Given the description of an element on the screen output the (x, y) to click on. 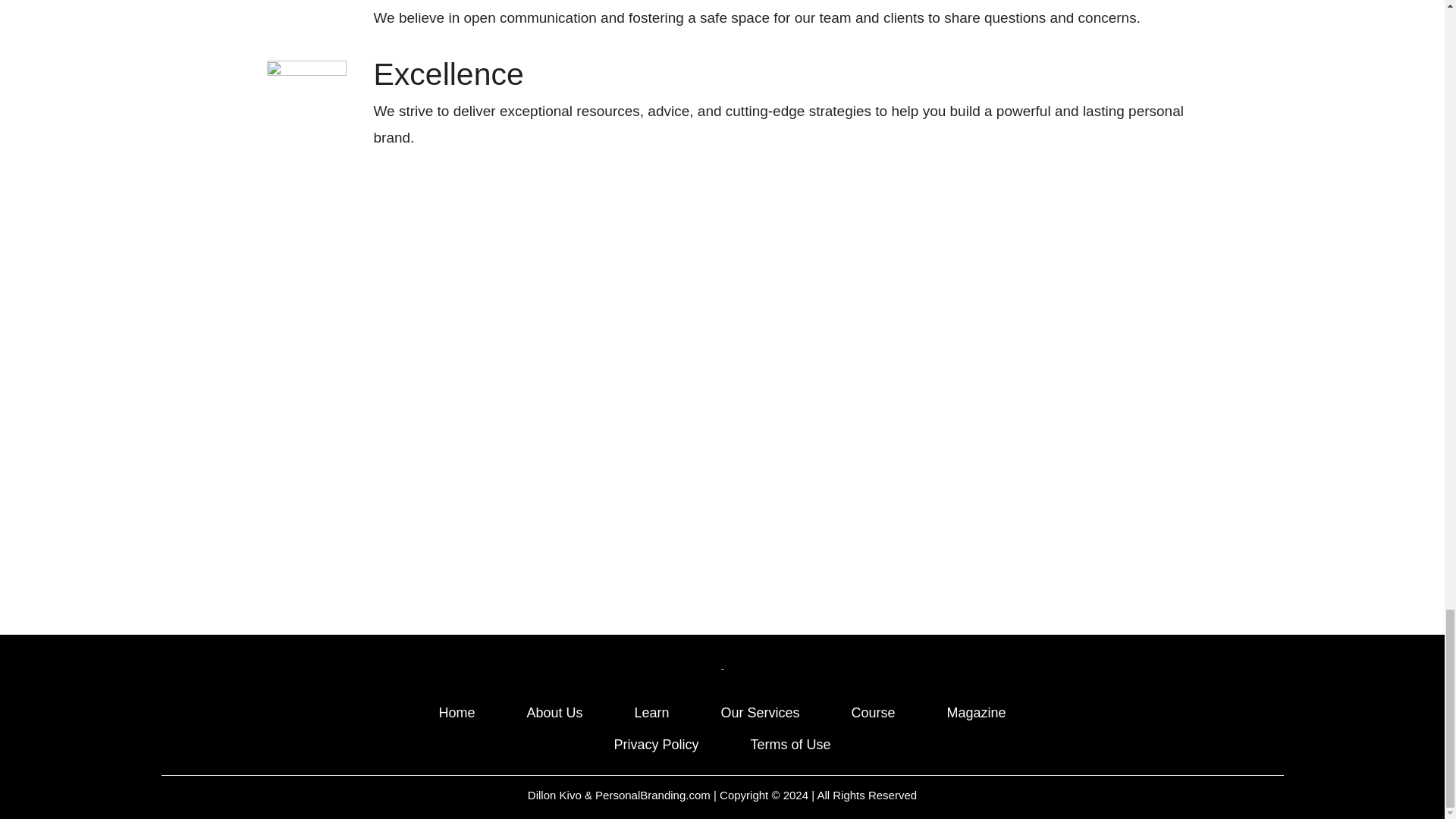
Home (456, 712)
Terms of Use (791, 744)
Magazine (976, 712)
Privacy Policy (655, 744)
About Us (554, 712)
Course (873, 712)
Learn (651, 712)
Our Services (759, 712)
